Given the description of an element on the screen output the (x, y) to click on. 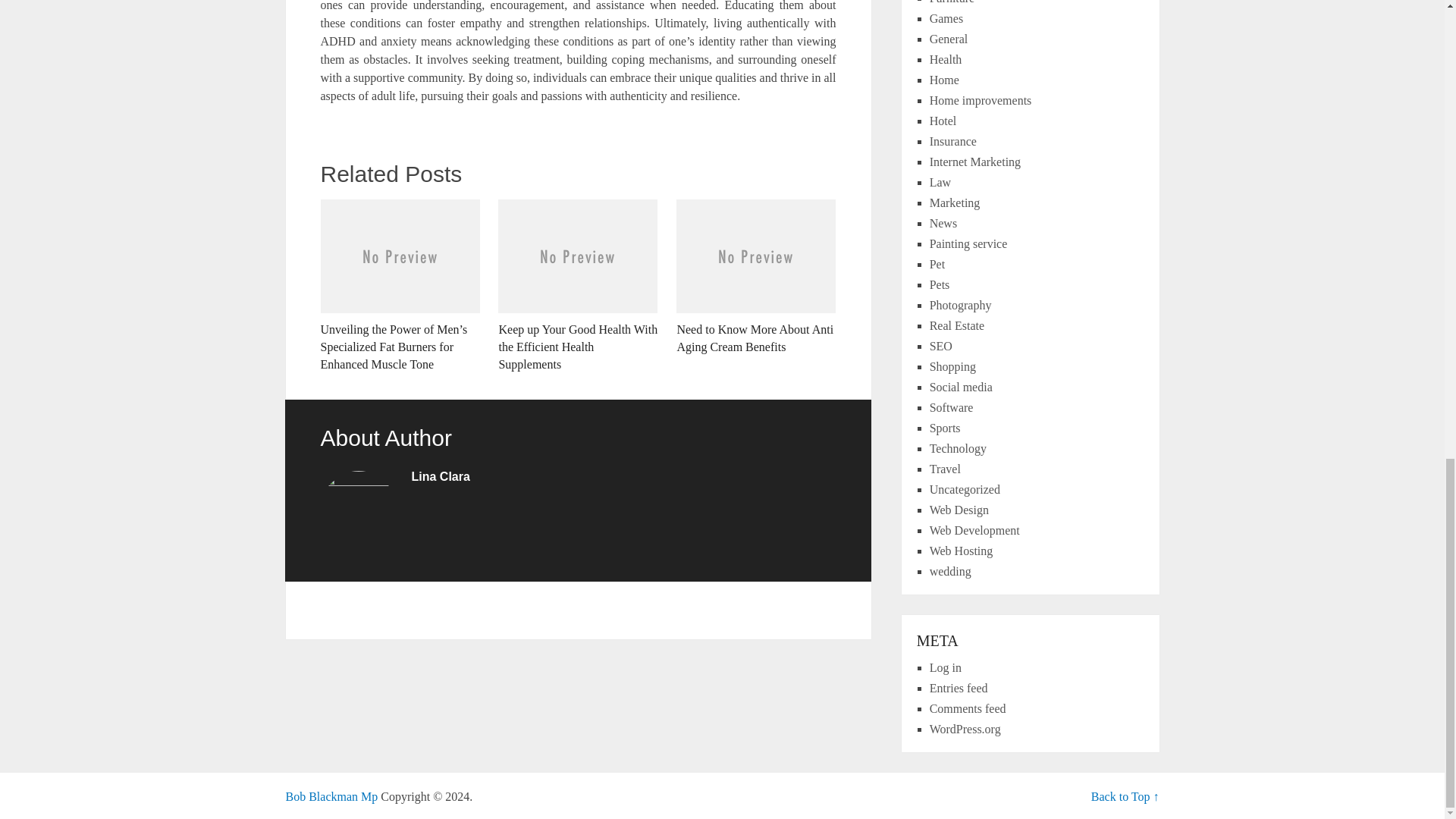
Home (944, 79)
Furniture (952, 2)
Health (946, 59)
General (949, 38)
Games (946, 18)
Need to Know More About Anti Aging Cream Benefits (756, 277)
Need to Know More About Anti Aging Cream Benefits (756, 277)
